Given the description of an element on the screen output the (x, y) to click on. 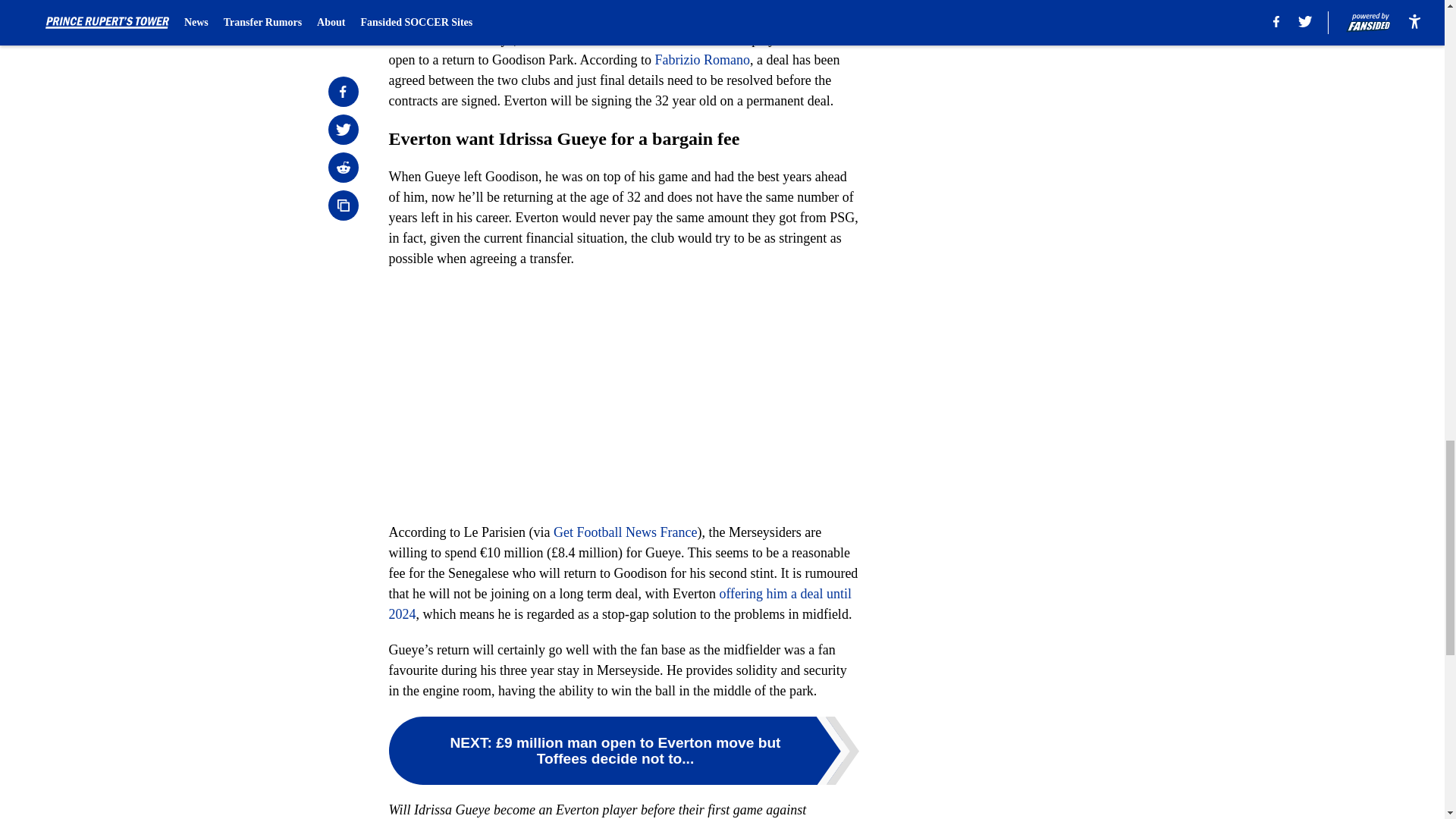
offering him a deal until 2024 (619, 603)
Fabrizio Romano (701, 59)
Get Football News France (625, 531)
a few steps away from completion (622, 5)
